Given the description of an element on the screen output the (x, y) to click on. 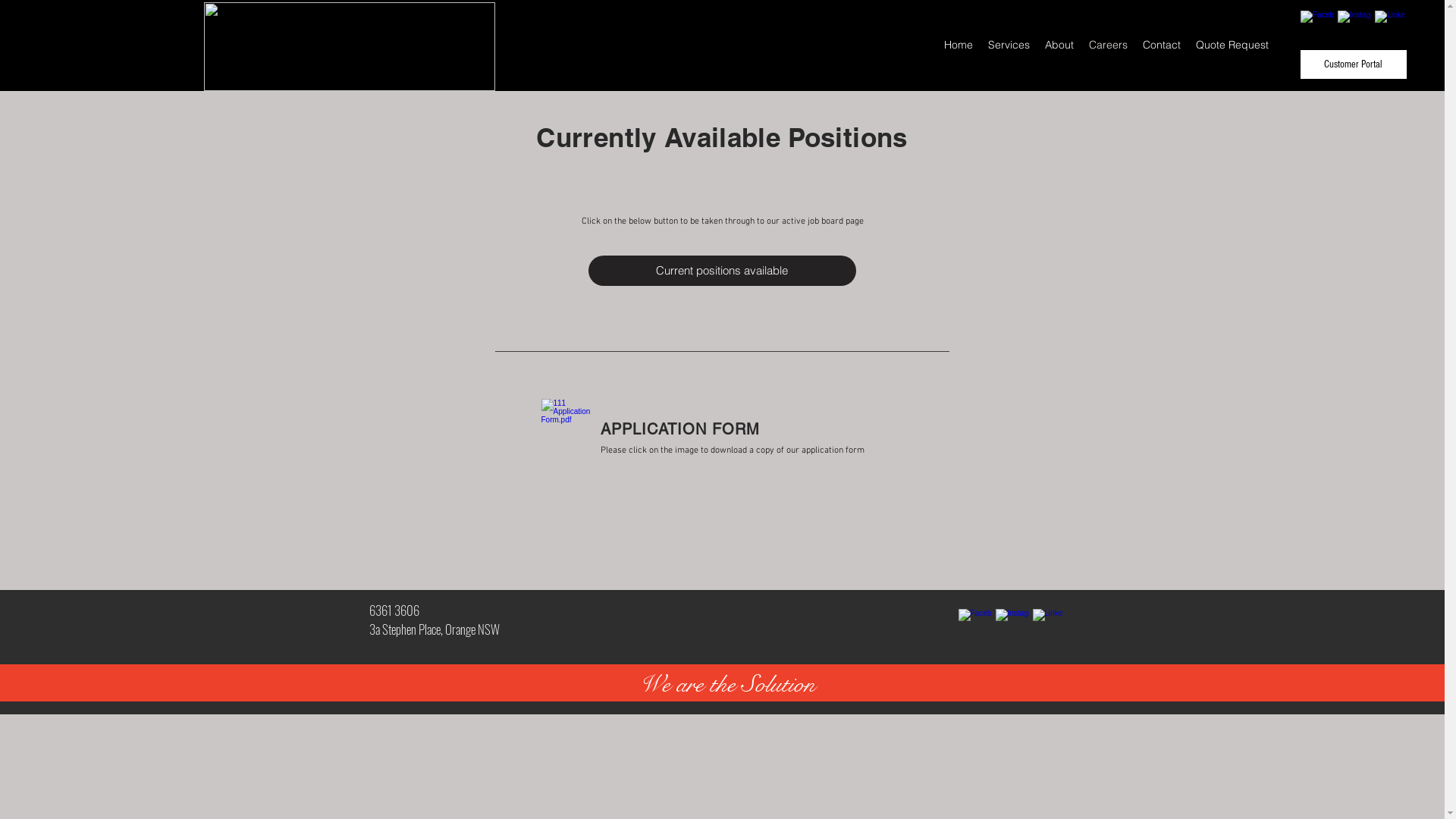
Services Element type: text (1008, 44)
Home Element type: text (958, 44)
111 Application Form.pdf Element type: hover (565, 440)
Careers Element type: text (1108, 44)
Customer Portal Element type: text (1353, 64)
Current positions available Element type: text (722, 270)
Quote Request Element type: text (1232, 44)
Contact Element type: text (1161, 44)
About Element type: text (1059, 44)
download.jpeg Element type: hover (348, 46)
